Given the description of an element on the screen output the (x, y) to click on. 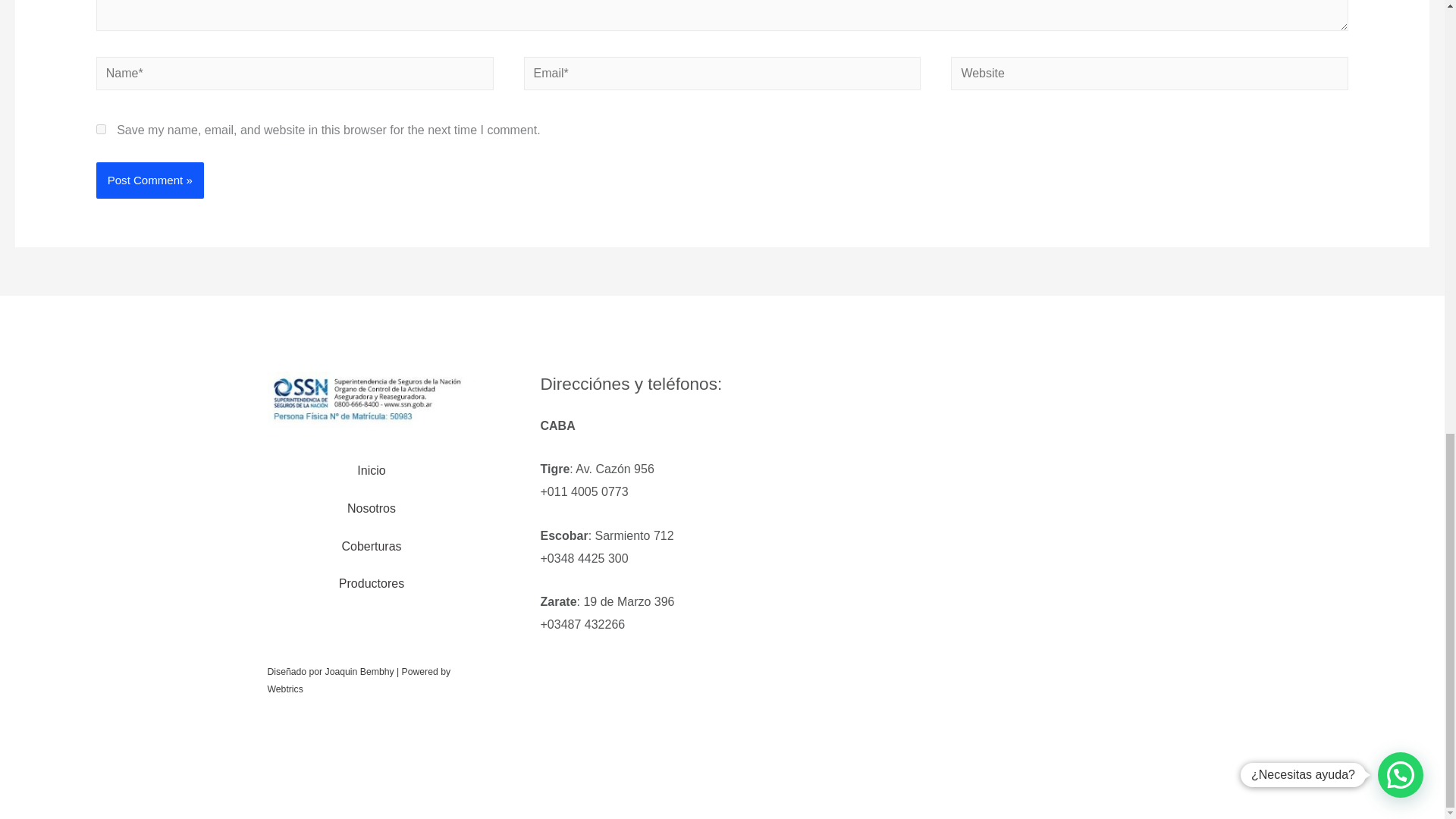
Coberturas (371, 546)
yes (101, 129)
Productores (371, 583)
Nosotros (371, 508)
Inicio (371, 470)
